Given the description of an element on the screen output the (x, y) to click on. 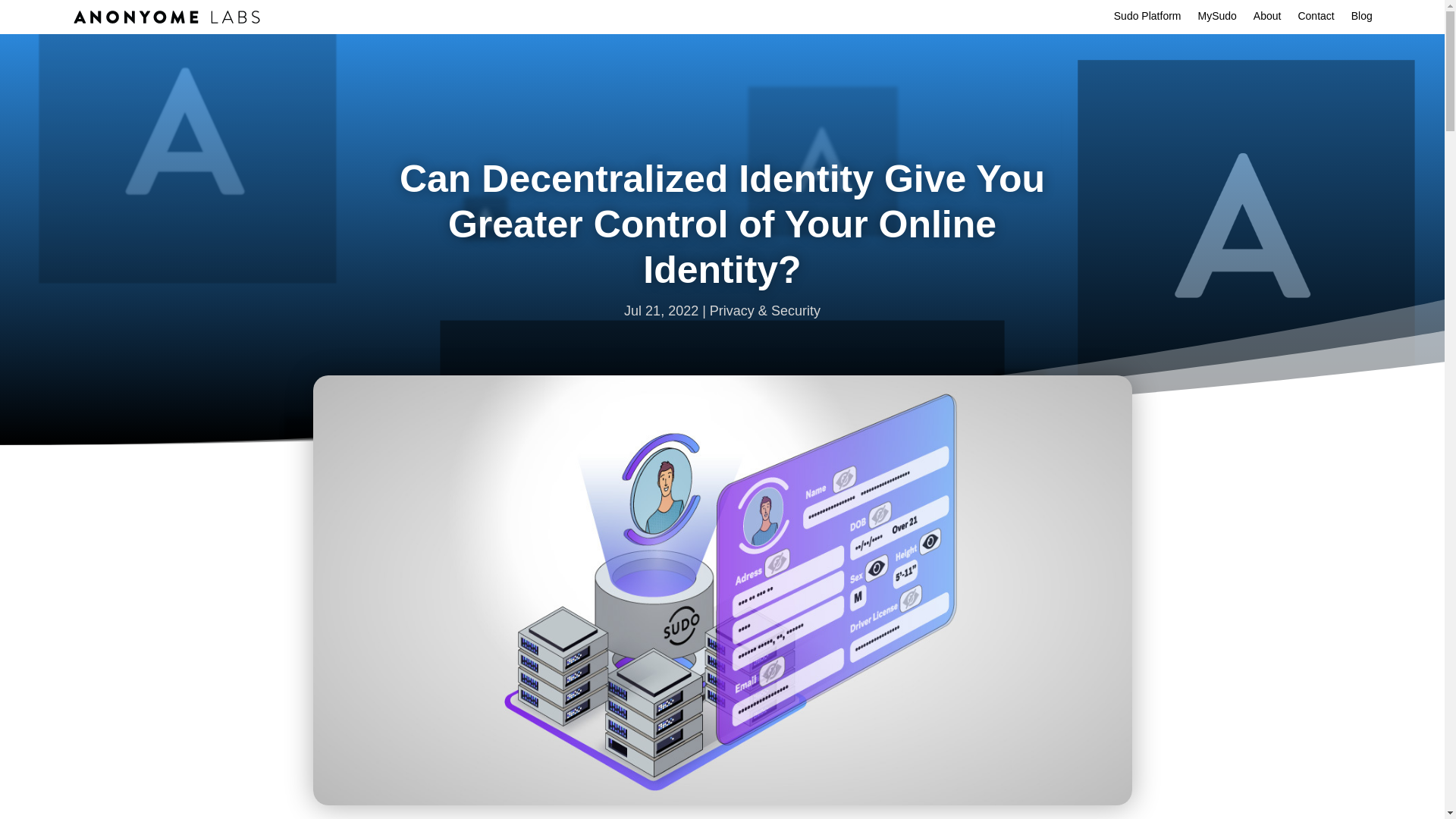
Sudo Platform (1146, 18)
Contact (1315, 18)
About (1267, 18)
MySudo (1217, 18)
anonyome-logo (166, 17)
